Given the description of an element on the screen output the (x, y) to click on. 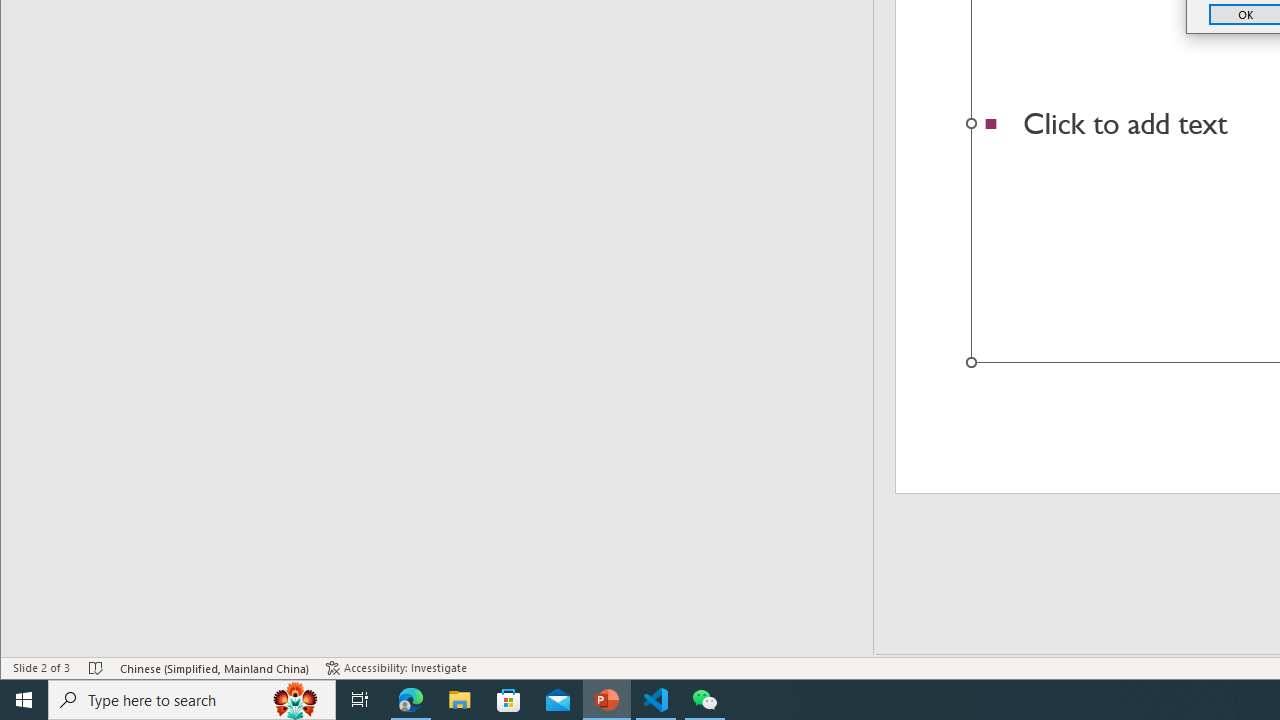
WeChat - 1 running window (704, 699)
Microsoft Edge - 1 running window (411, 699)
